Given the description of an element on the screen output the (x, y) to click on. 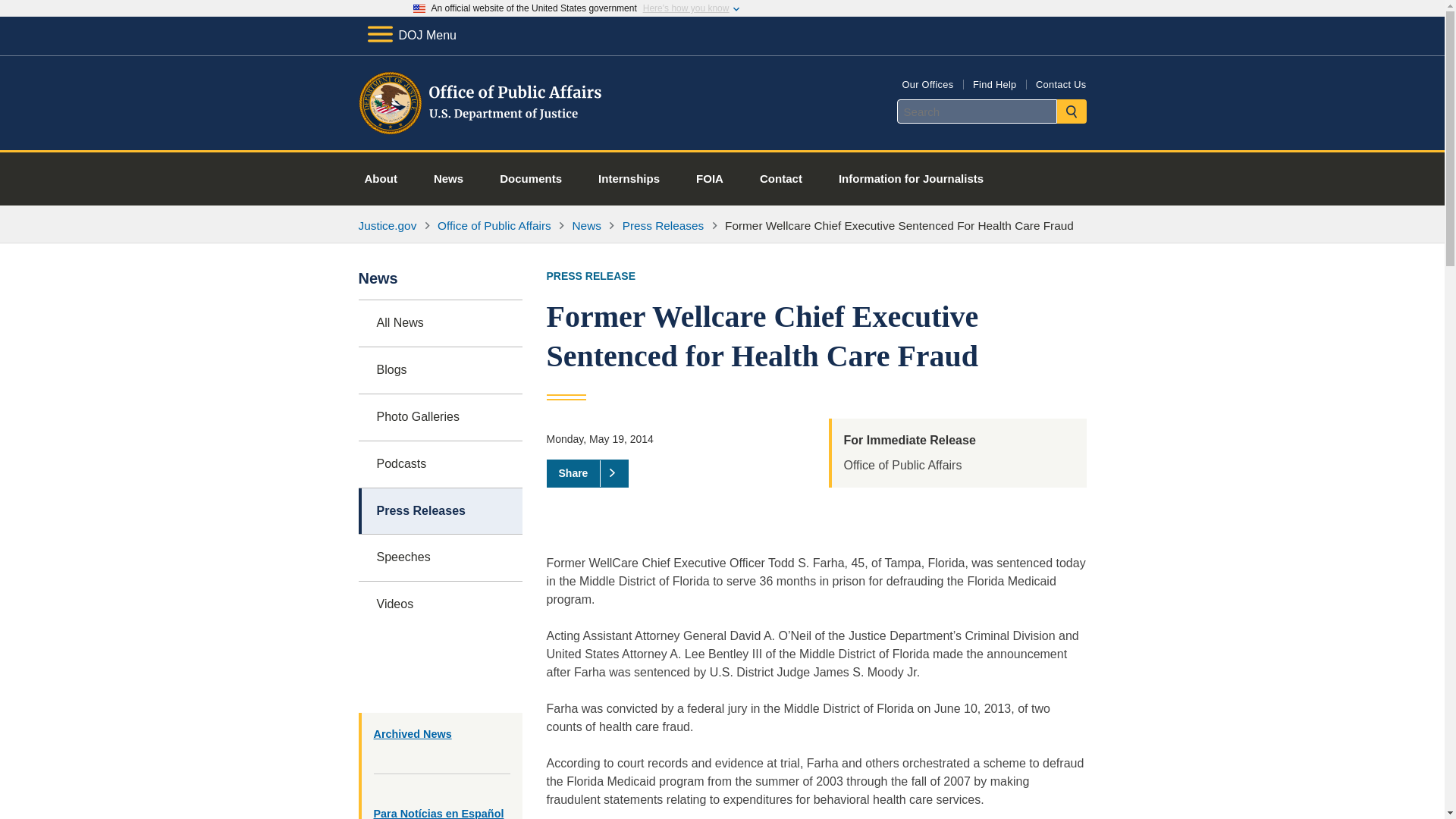
Here's how you know (686, 8)
Press Releases (663, 225)
Contact Us (1060, 84)
Podcasts (439, 464)
Find Help (994, 84)
Photo Galleries (439, 416)
FOIA (709, 179)
DOJ Menu (411, 35)
Justice.gov (387, 225)
About (380, 179)
Contact (781, 179)
Documents (530, 179)
Office of Public Affairs (494, 225)
Home (481, 132)
Information for Journalists (911, 179)
